Given the description of an element on the screen output the (x, y) to click on. 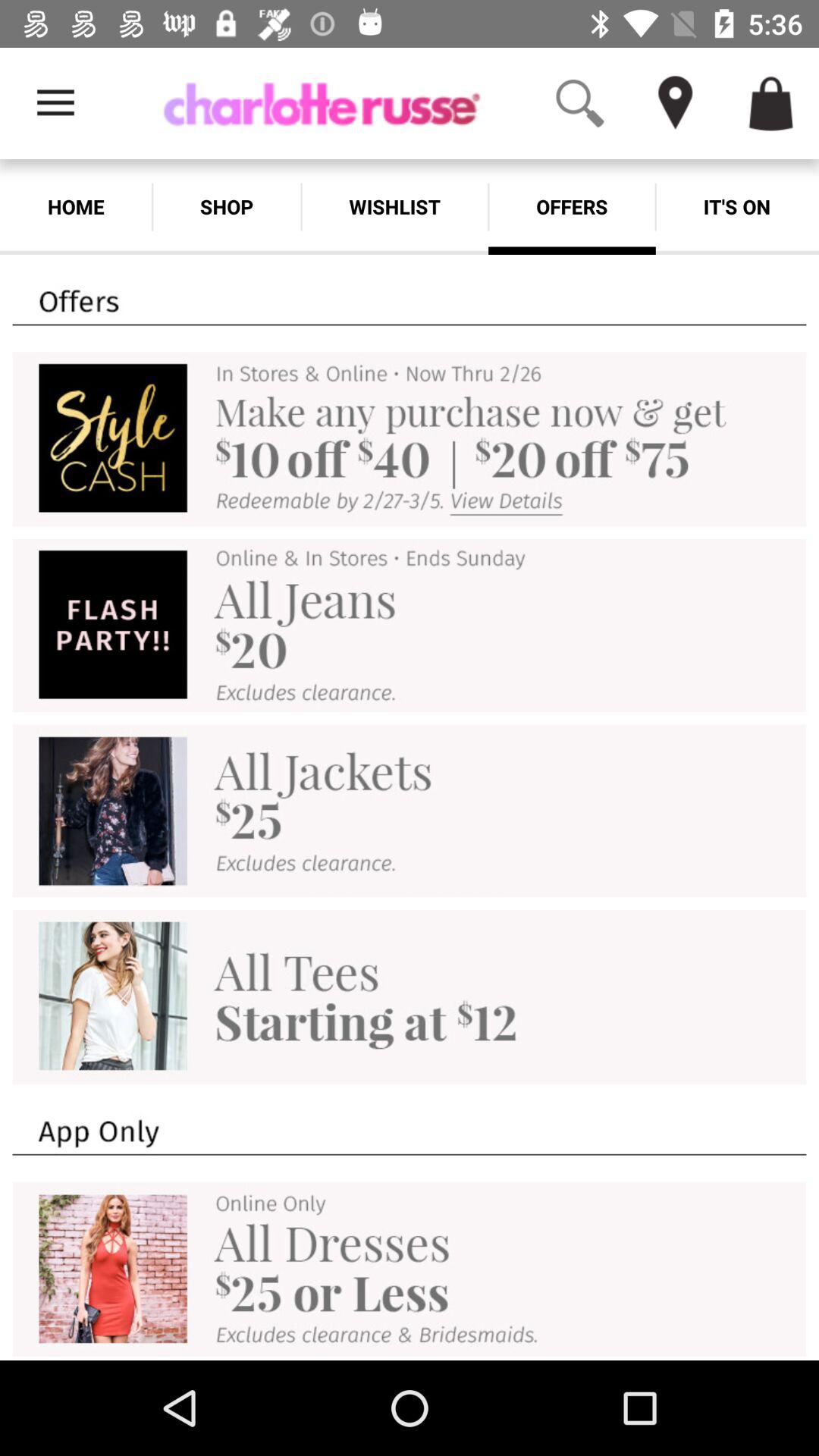
jump until offers app (571, 206)
